Given the description of an element on the screen output the (x, y) to click on. 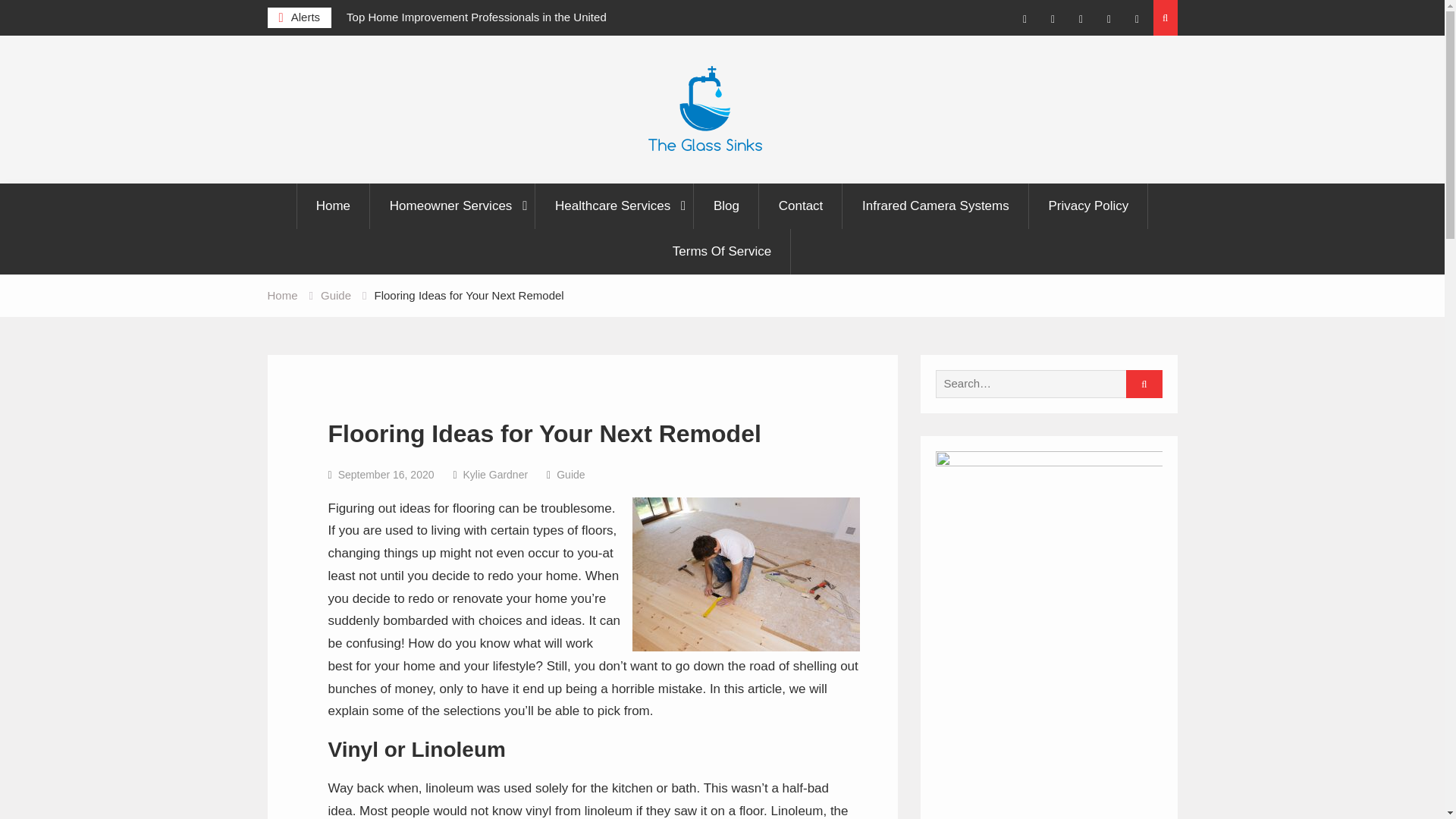
youtube (1080, 19)
Homeowner Services (453, 206)
Search for: (1043, 384)
instagram (1137, 19)
fb (1024, 19)
Home (333, 206)
vimeo (1108, 19)
Top Home Improvement Professionals in the United States (483, 27)
twitter (1052, 19)
